Given the description of an element on the screen output the (x, y) to click on. 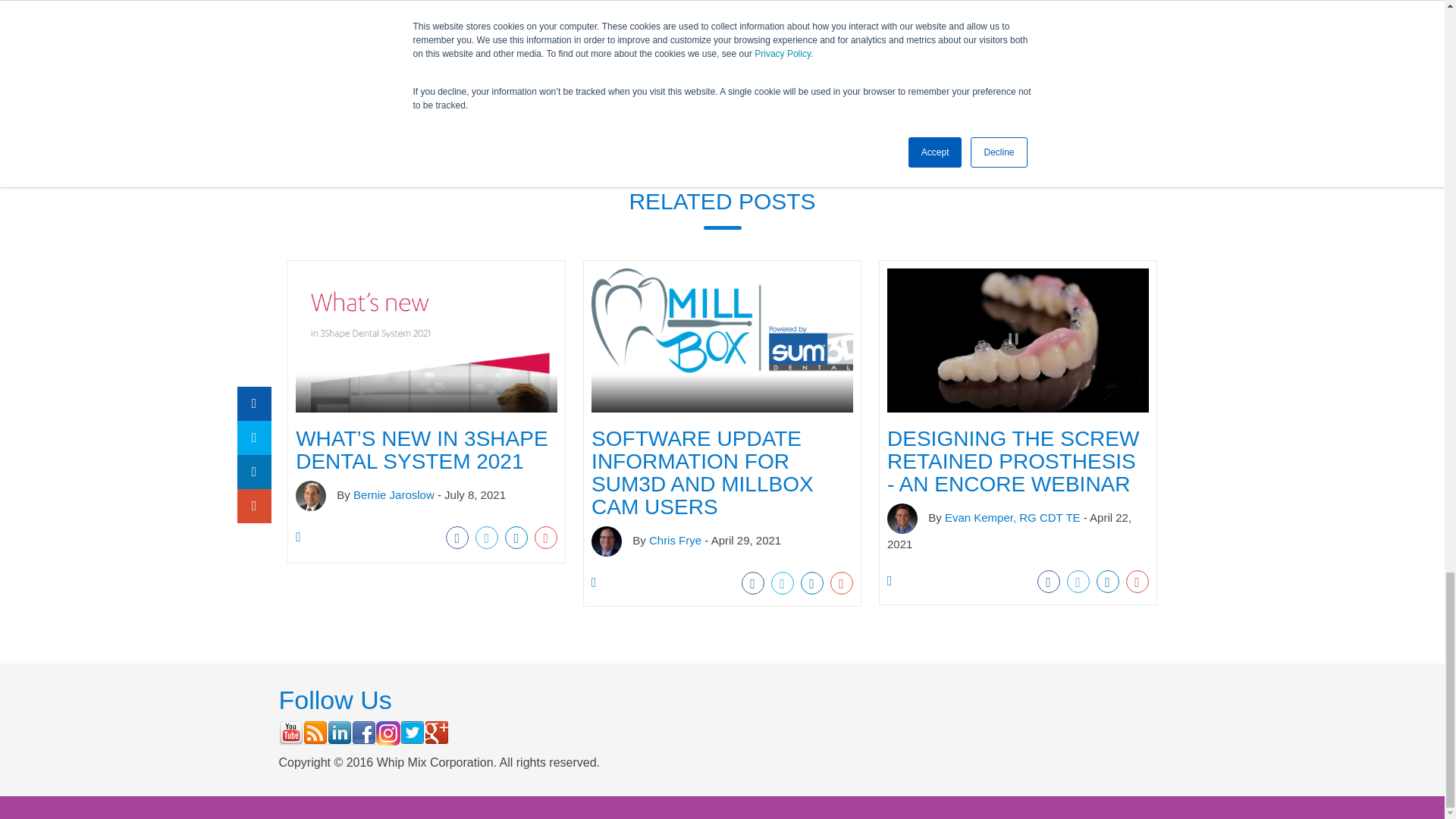
Privacy Policy (356, 46)
Share on LinkedIn (1107, 581)
reCAPTCHA (387, 104)
Share on LinkedIn (812, 582)
Tweet (782, 582)
Submit Comment (645, 83)
Share on LinkedIn (516, 537)
Share on Facebook (752, 582)
Share on Facebook (1047, 581)
Tweet (1078, 581)
Share on Facebook (456, 537)
Bernie Jaroslow (393, 494)
Submit Comment (645, 83)
Tweet (486, 537)
